Given the description of an element on the screen output the (x, y) to click on. 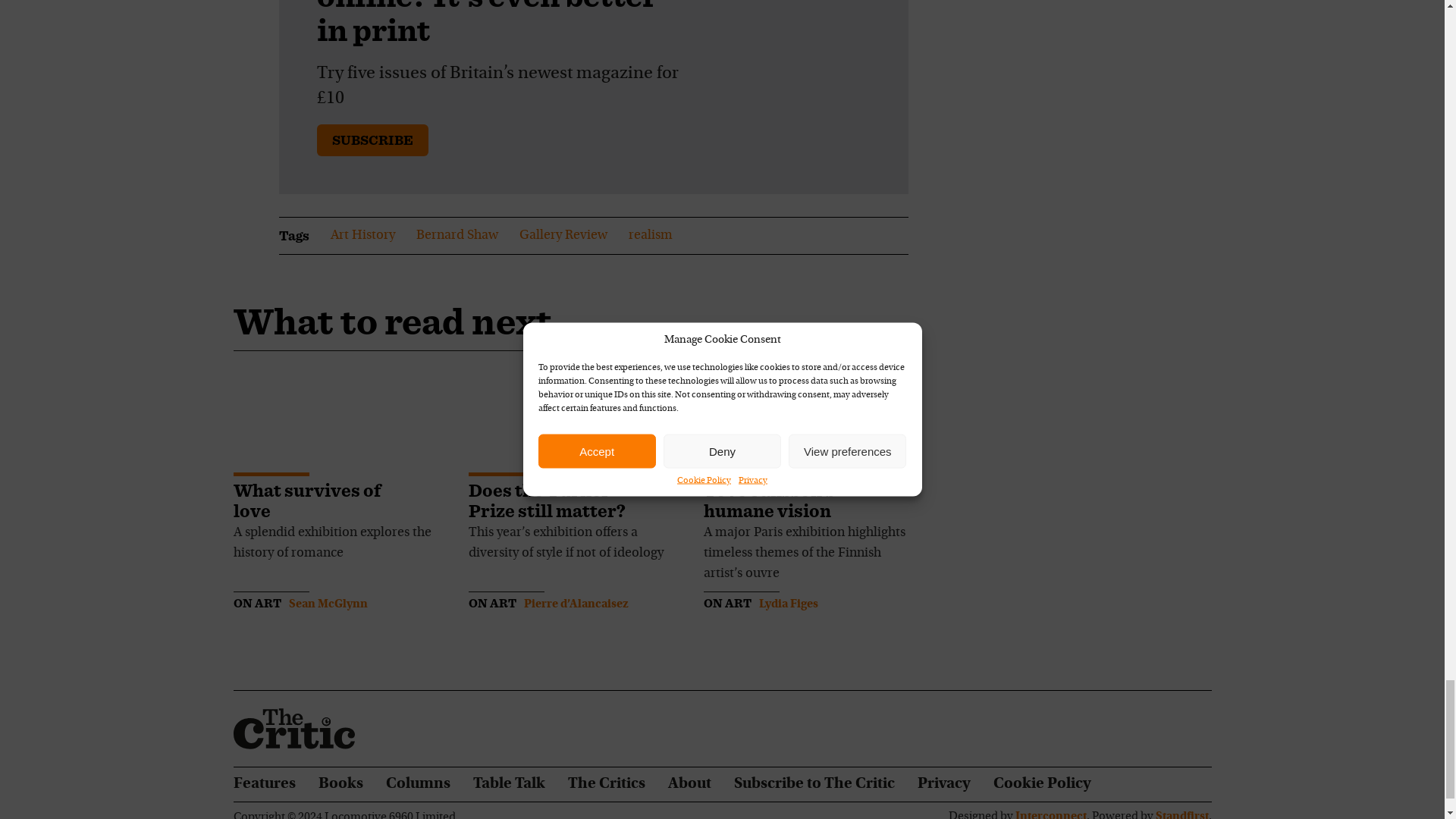
Posts by Sean McGlynn (327, 604)
Posts by Lydia Figes (787, 604)
